Given the description of an element on the screen output the (x, y) to click on. 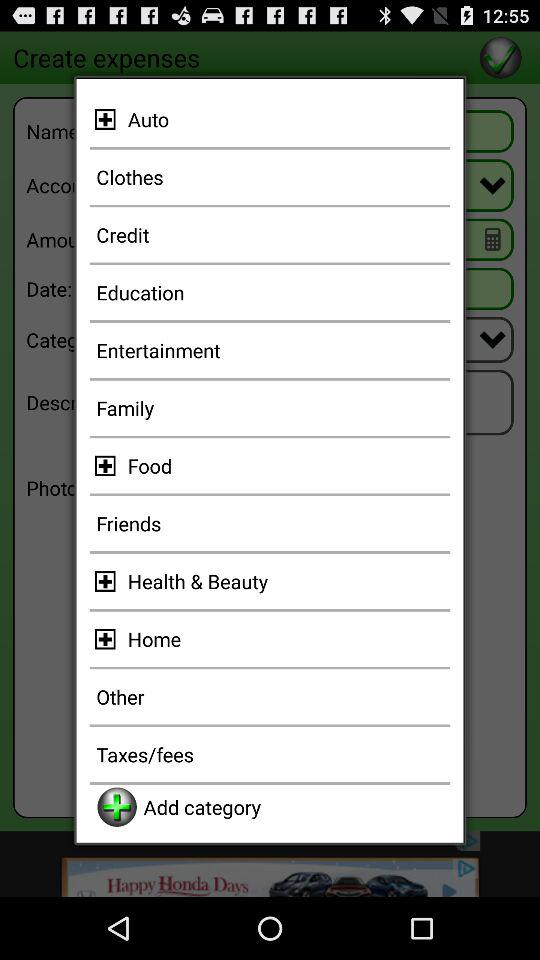
add item home (108, 638)
